Given the description of an element on the screen output the (x, y) to click on. 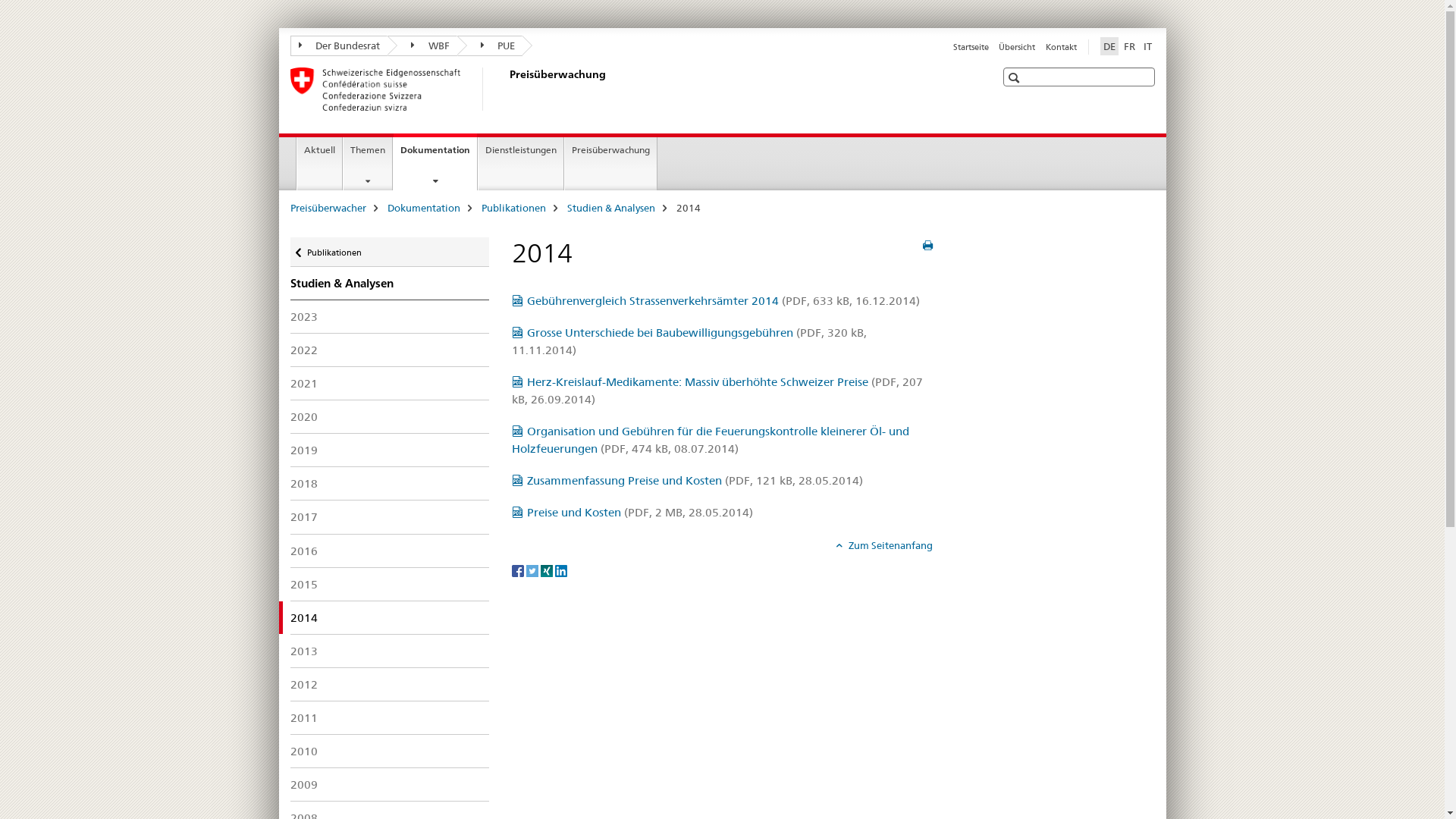
2012 Element type: text (389, 684)
2009 Element type: text (389, 784)
2010 Element type: text (389, 750)
WBF Element type: text (422, 45)
2011 Element type: text (389, 717)
2013 Element type: text (389, 650)
Preise und Kosten (PDF, 2 MB, 28.05.2014) Element type: text (632, 512)
2021 Element type: text (389, 383)
DE Element type: text (1108, 46)
Dienstleistungen Element type: text (520, 163)
FR Element type: text (1129, 46)
Dokumentation Element type: text (422, 207)
Zusammenfassung Preise und Kosten (PDF, 121 kB, 28.05.2014) Element type: text (686, 480)
Studien & Analysen Element type: text (611, 207)
Der Bundesrat Element type: text (338, 45)
IT Element type: text (1147, 46)
2023 Element type: text (389, 316)
Startseite Element type: text (970, 46)
Zum Seitenanfang Element type: text (884, 545)
2017 Element type: text (389, 516)
2020 Element type: text (389, 416)
Dokumentation
current page Element type: text (434, 161)
Aktuell Element type: text (319, 163)
2018 Element type: text (389, 483)
2015 Element type: text (389, 583)
Seite drucken Element type: hover (927, 245)
Studien & Analysen Element type: text (389, 283)
Kontakt Element type: text (1060, 46)
2022 Element type: text (389, 349)
PUE Element type: text (489, 45)
Publikationen Element type: text (512, 207)
2019 Element type: text (389, 449)
Themen Element type: text (367, 163)
2016 Element type: text (389, 550)
